Given the description of an element on the screen output the (x, y) to click on. 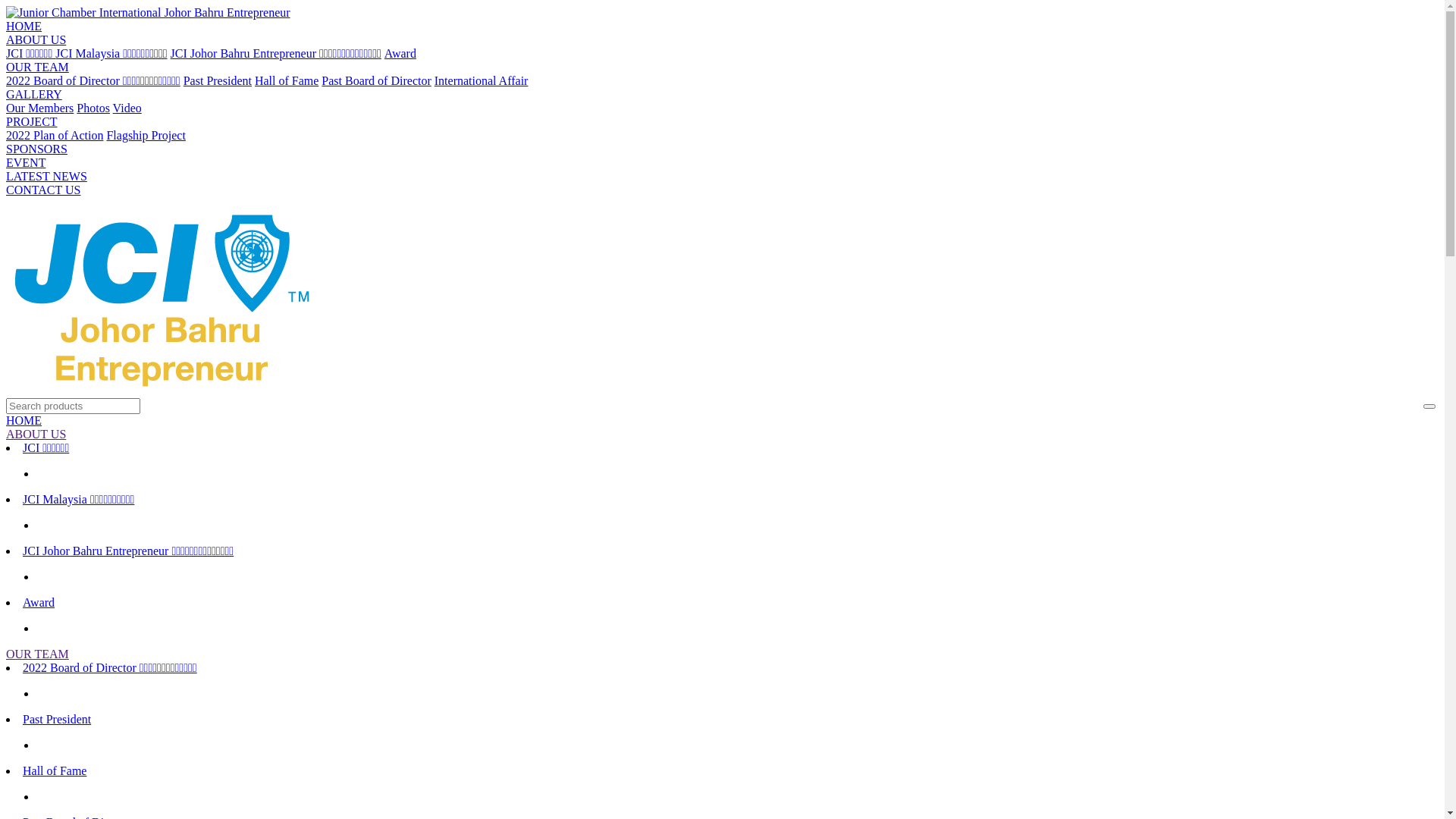
EVENT Element type: text (25, 162)
Hall of Fame Element type: text (286, 80)
Flagship Project Element type: text (145, 134)
HOME Element type: text (23, 25)
PROJECT Element type: text (31, 121)
Our Members Element type: text (39, 107)
Award Element type: text (38, 602)
Video Element type: text (126, 107)
ABOUT US Element type: text (35, 39)
ABOUT US Element type: text (722, 434)
Photos Element type: text (92, 107)
HOME Element type: text (722, 420)
Past President Element type: text (56, 718)
OUR TEAM Element type: text (722, 654)
International Affair Element type: text (481, 80)
Junior Chamber International Johor Bahru Entrepreneur Element type: hover (163, 296)
SPONSORS Element type: text (36, 148)
Hall of Fame Element type: text (54, 770)
Junior Chamber International Johor Bahru Entrepreneur Element type: hover (148, 12)
Award Element type: text (400, 53)
Past President Element type: text (217, 80)
CONTACT US Element type: text (43, 189)
Past Board of Director Element type: text (375, 80)
2022 Plan of Action Element type: text (54, 134)
LATEST NEWS Element type: text (46, 175)
GALLERY Element type: text (34, 93)
OUR TEAM Element type: text (37, 66)
